Given the description of an element on the screen output the (x, y) to click on. 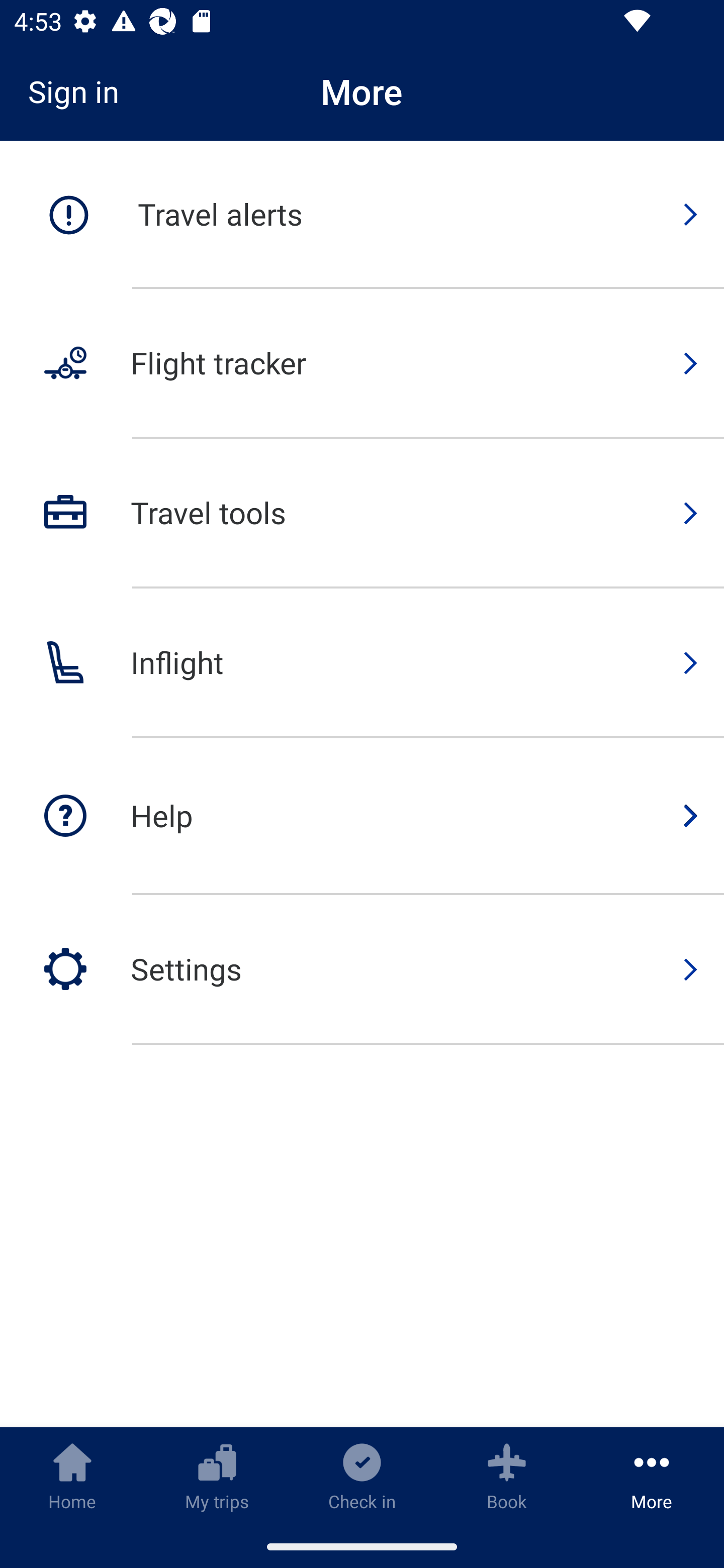
Sign in (80, 91)
Travel alerts (362, 214)
Flight tracker (362, 363)
Travel tools (362, 513)
Inflight (362, 663)
Help (362, 816)
Settings (362, 969)
Home (72, 1475)
My trips (216, 1475)
Check in (361, 1475)
Book (506, 1475)
